Given the description of an element on the screen output the (x, y) to click on. 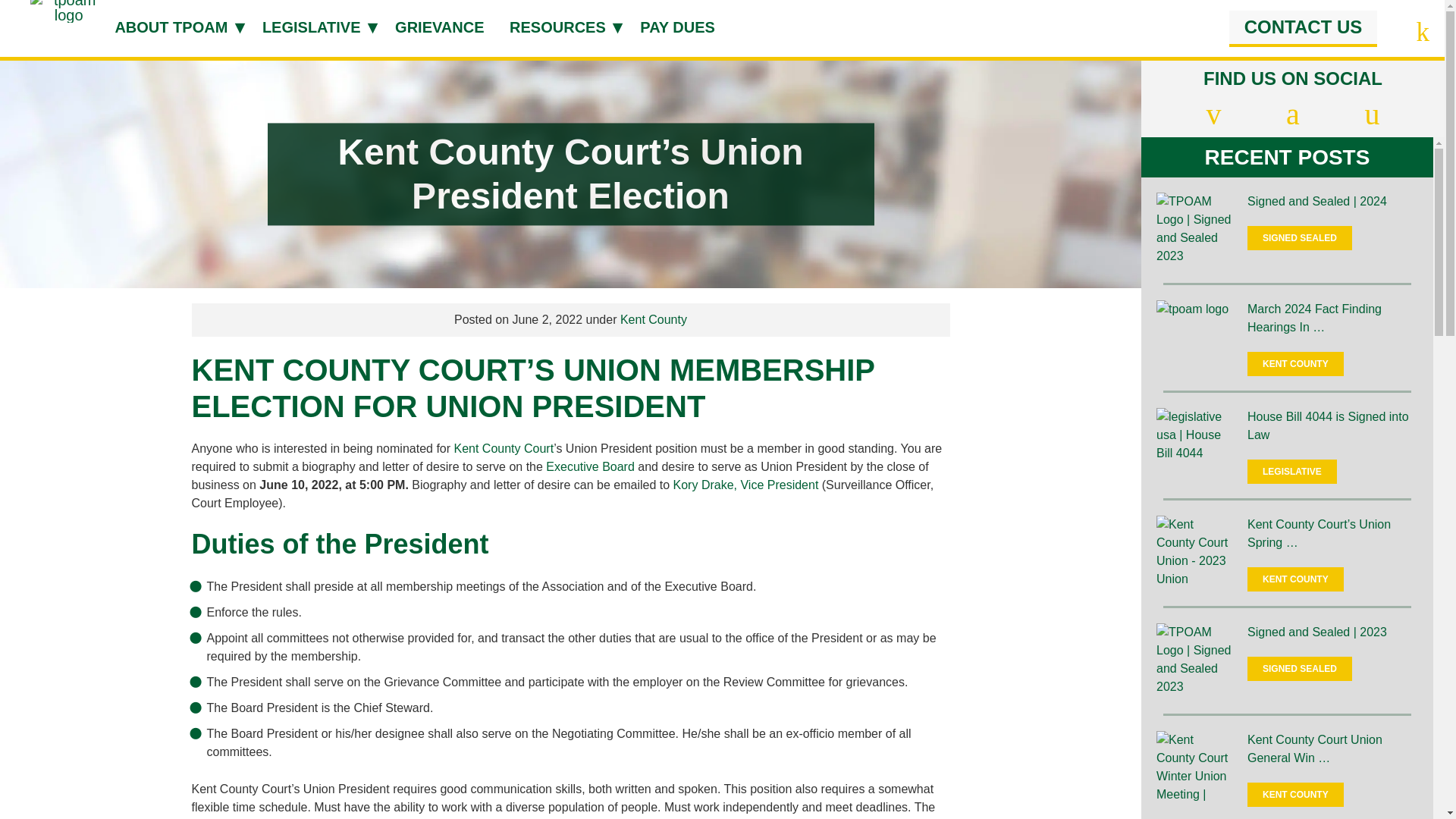
cropped-logo.png (68, 11)
Legislative (315, 24)
PAY DUES (685, 24)
GRIEVANCE (446, 24)
Kent County (653, 318)
CONTACT US (1302, 28)
Resources (561, 24)
LEGISLATIVE (315, 24)
About TPOAM (175, 24)
Kent County Court (502, 448)
Grievance (446, 24)
ABOUT TPOAM (175, 24)
Kory Drake, Vice President (745, 484)
RESOURCES (561, 24)
TPOAM (68, 14)
